Given the description of an element on the screen output the (x, y) to click on. 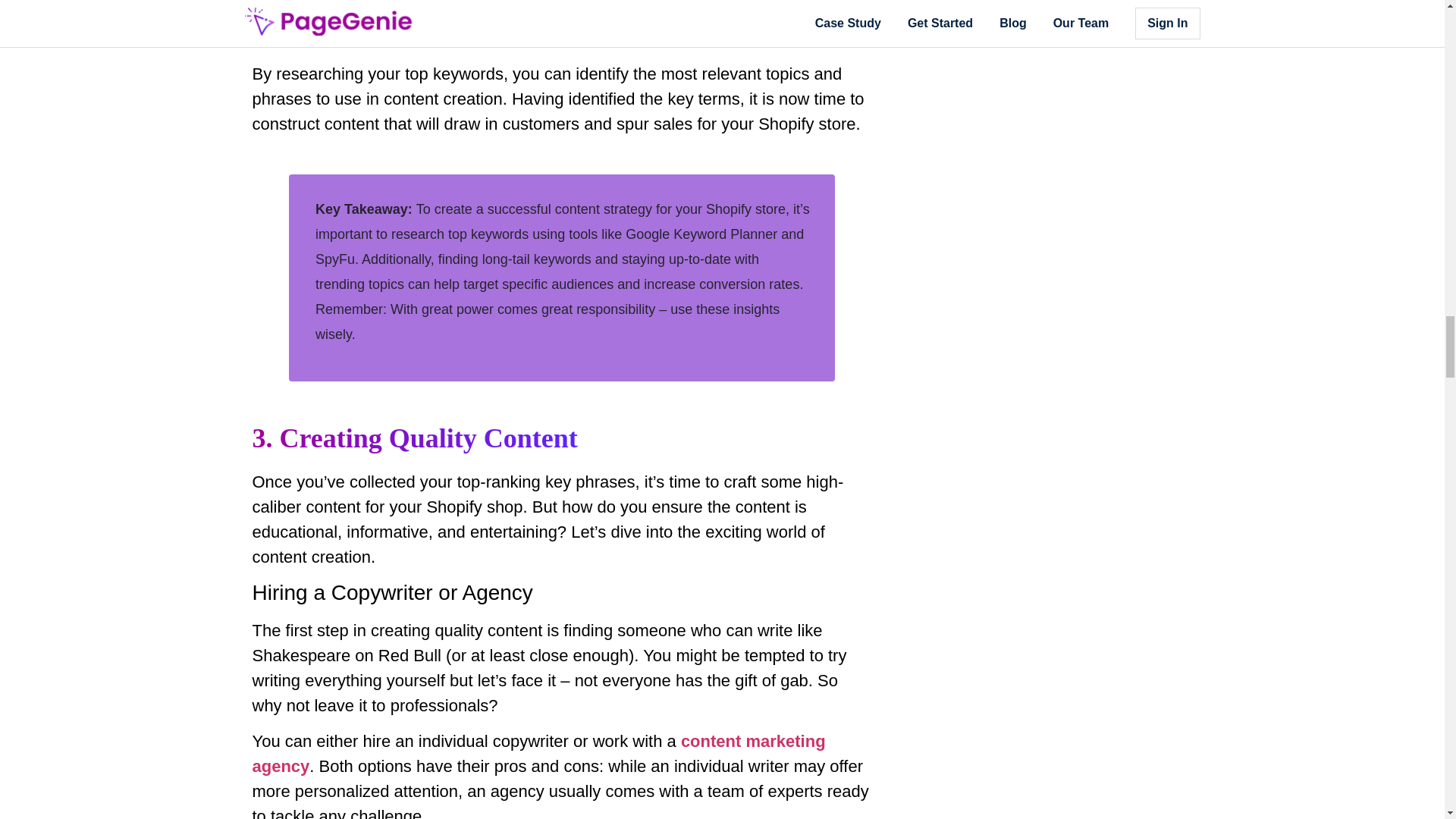
Content Marketing Agency (538, 753)
